Given the description of an element on the screen output the (x, y) to click on. 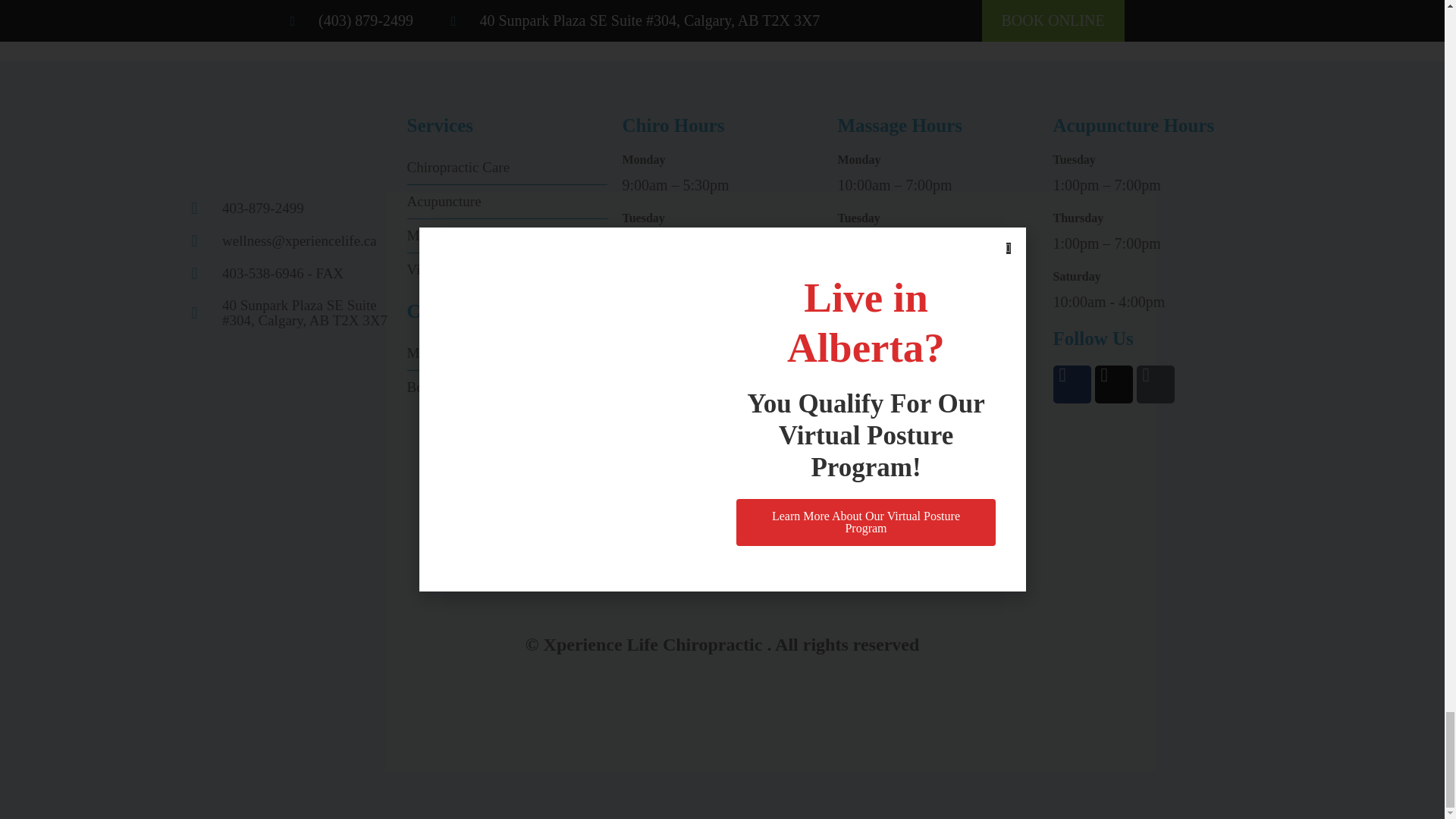
WebsiteCreatedByFooterDark (721, 731)
